Given the description of an element on the screen output the (x, y) to click on. 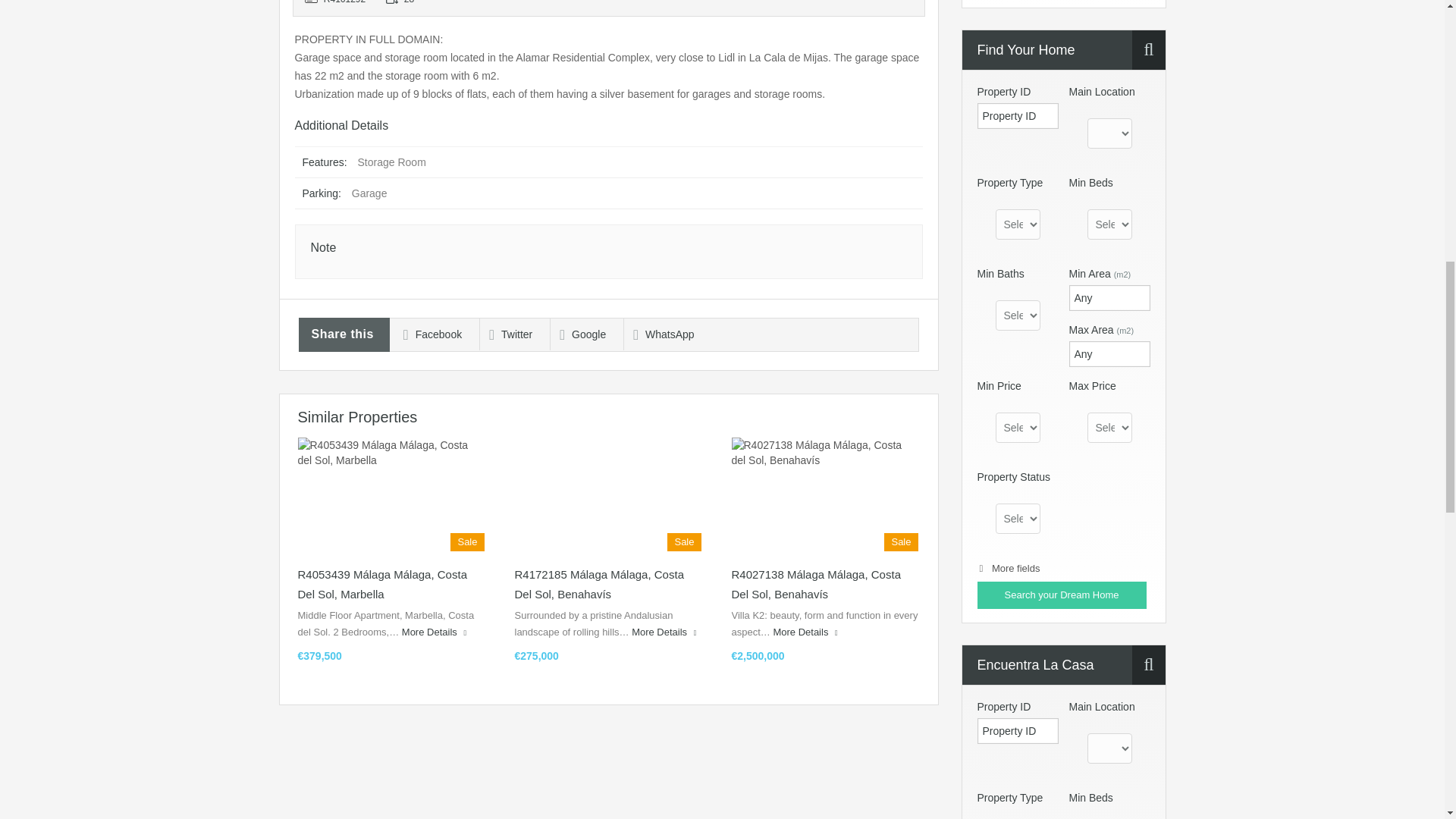
Search your Dream Home (1060, 595)
Only provide digits! (1109, 353)
Area Size (419, 7)
Property ID (339, 7)
Only provide digits! (1109, 298)
